Given the description of an element on the screen output the (x, y) to click on. 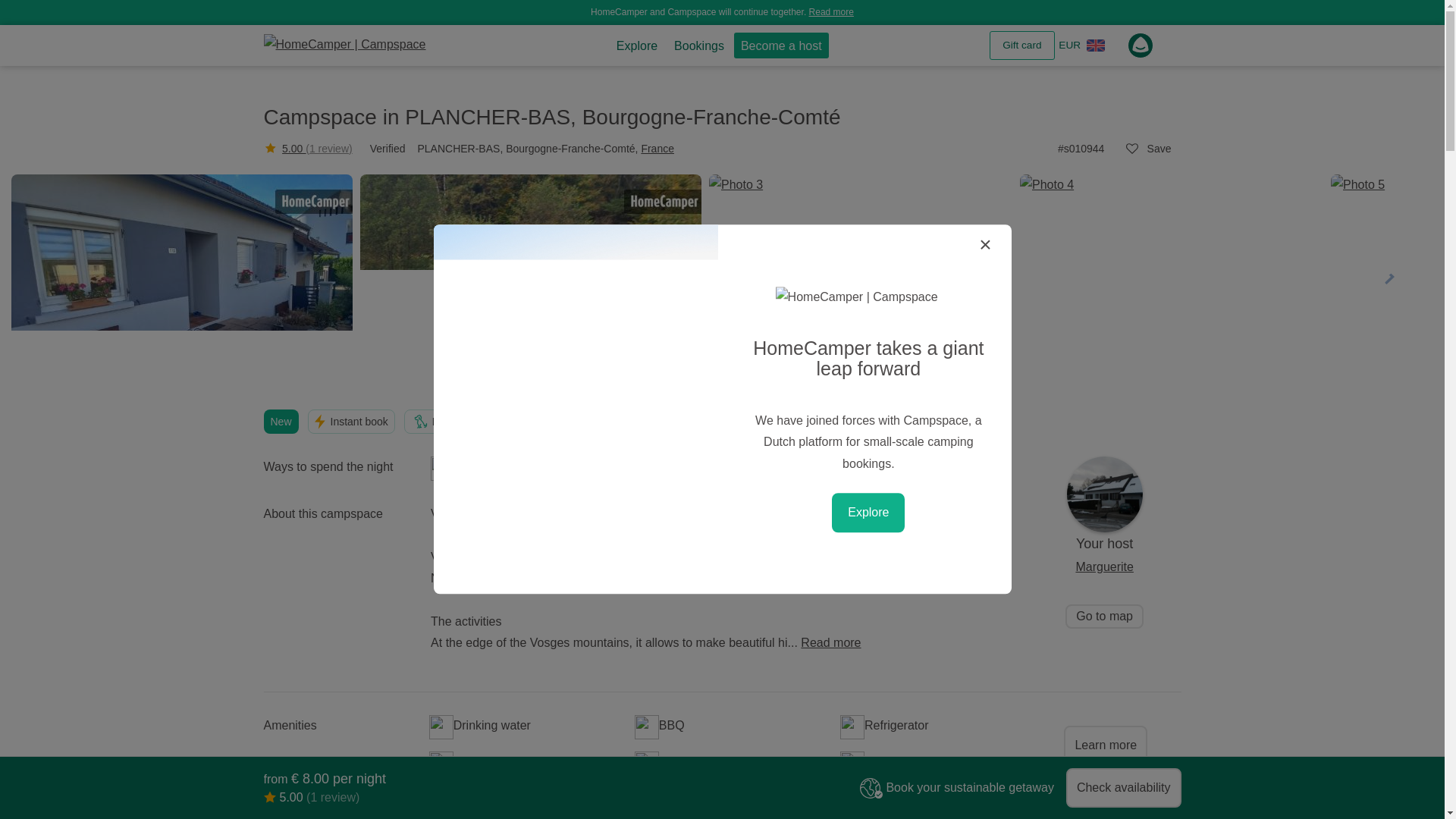
EUR (1070, 45)
Bookings (698, 45)
Become a host (780, 45)
Gift card (1022, 45)
Explore (636, 45)
English (1095, 45)
Read more (831, 11)
